Given the description of an element on the screen output the (x, y) to click on. 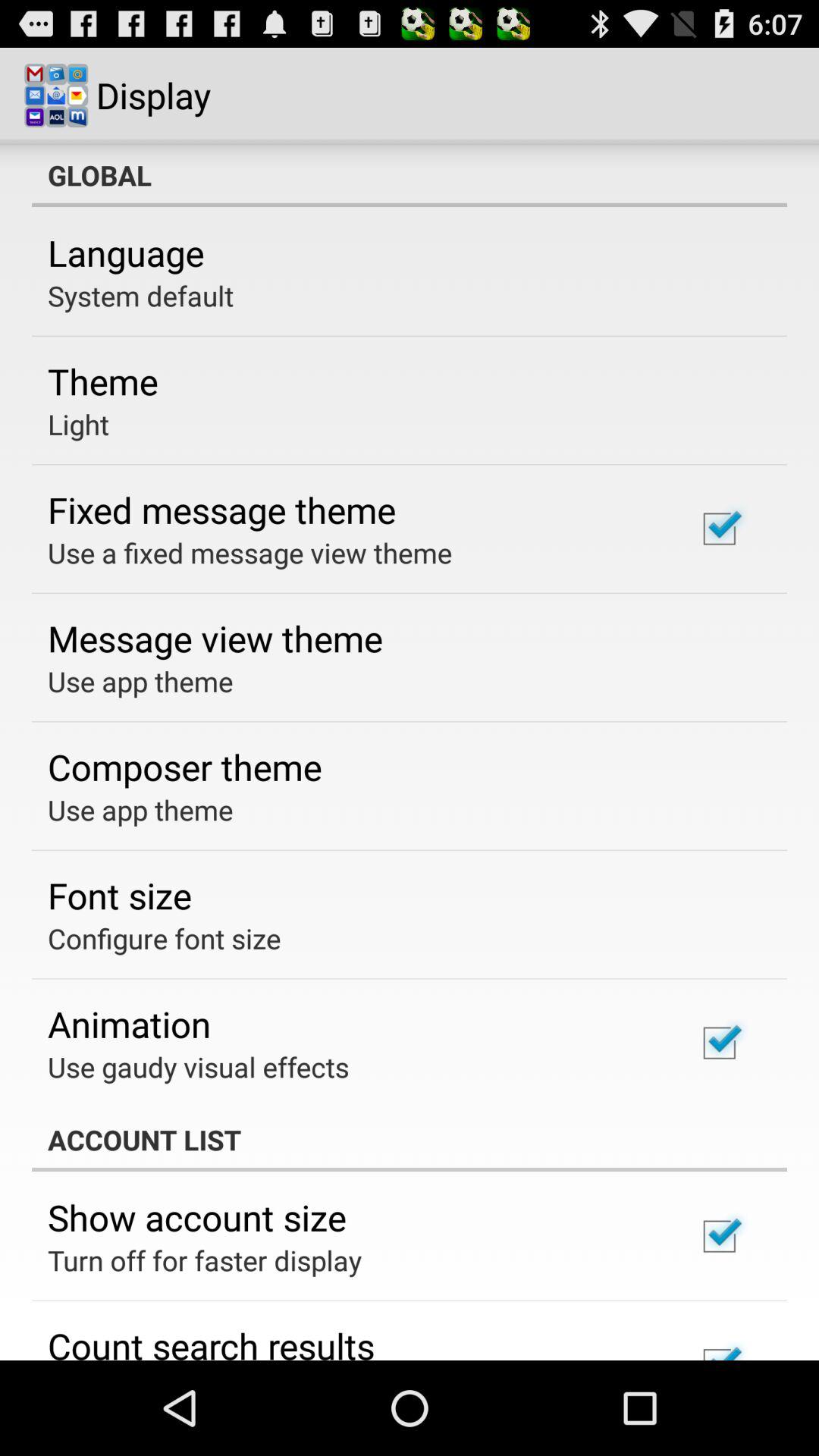
scroll until the system default app (140, 295)
